Given the description of an element on the screen output the (x, y) to click on. 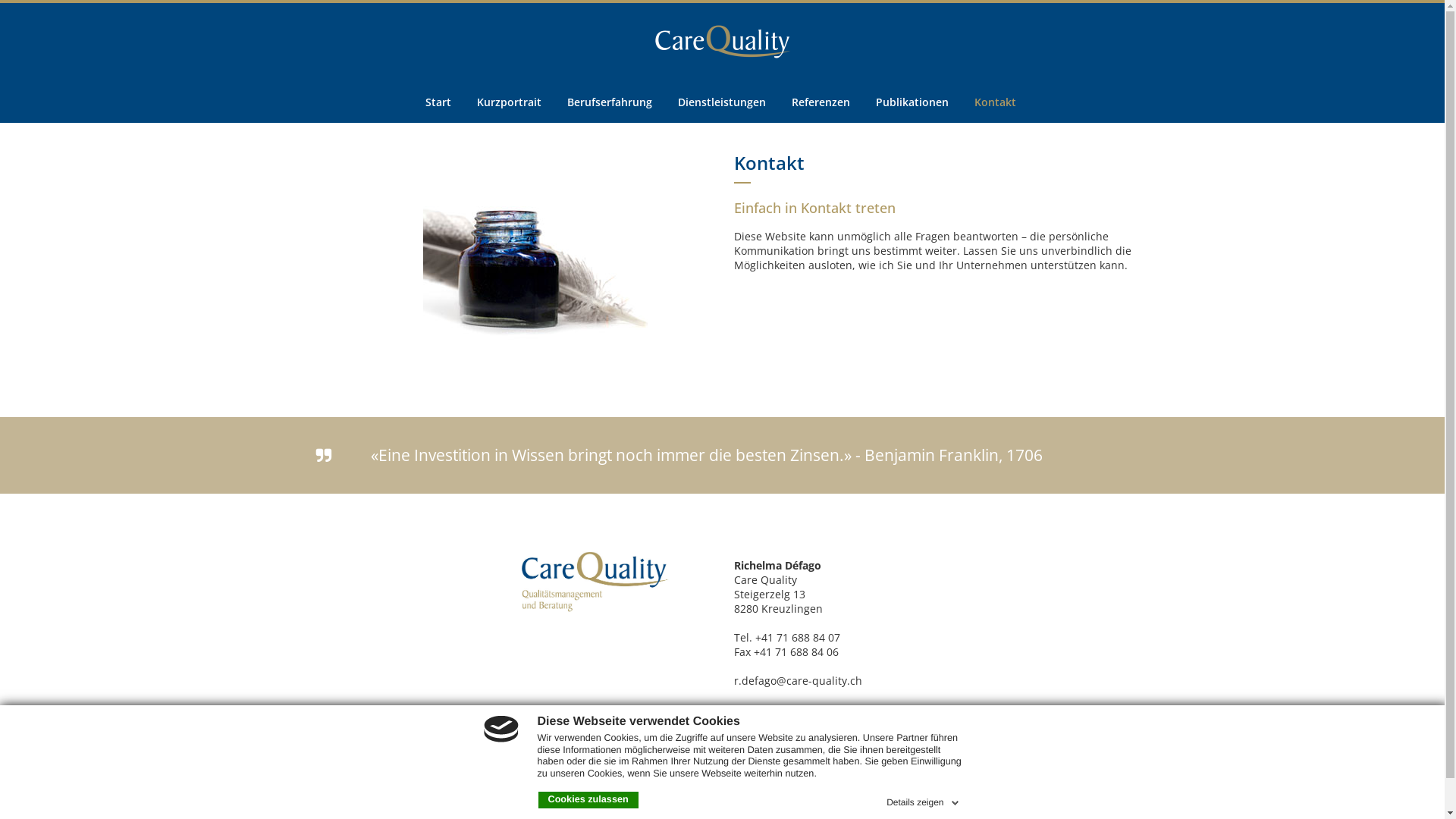
Kurzportrait Element type: text (509, 101)
Referenzen Element type: text (820, 101)
Kontakt Element type: text (995, 101)
Start Element type: text (438, 101)
Details zeigen Element type: text (923, 799)
Berufserfahrung Element type: text (609, 101)
Dienstleistungen Element type: text (721, 101)
Cookies zulassen Element type: text (588, 799)
Publikationen Element type: text (911, 101)
